Given the description of an element on the screen output the (x, y) to click on. 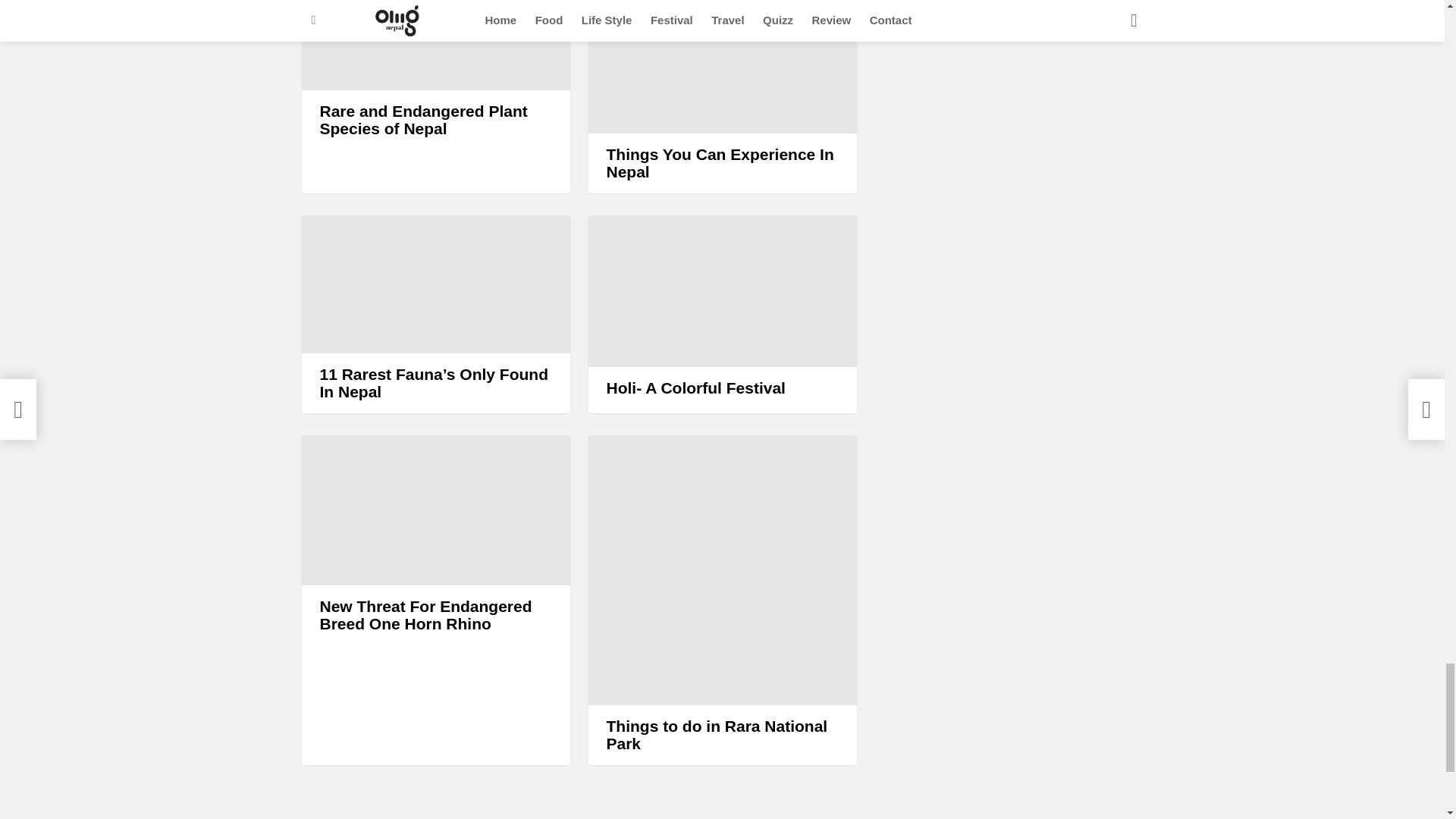
New Threat For Endangered Breed One Horn Rhino (434, 509)
Rare and Endangered Plant Species of Nepal (423, 120)
Things You Can Experience In Nepal (721, 66)
Holi- A Colorful Festival (721, 290)
Rare and Endangered Plant Species of Nepal (434, 45)
Things to do in Rara National Park (721, 569)
